Given the description of an element on the screen output the (x, y) to click on. 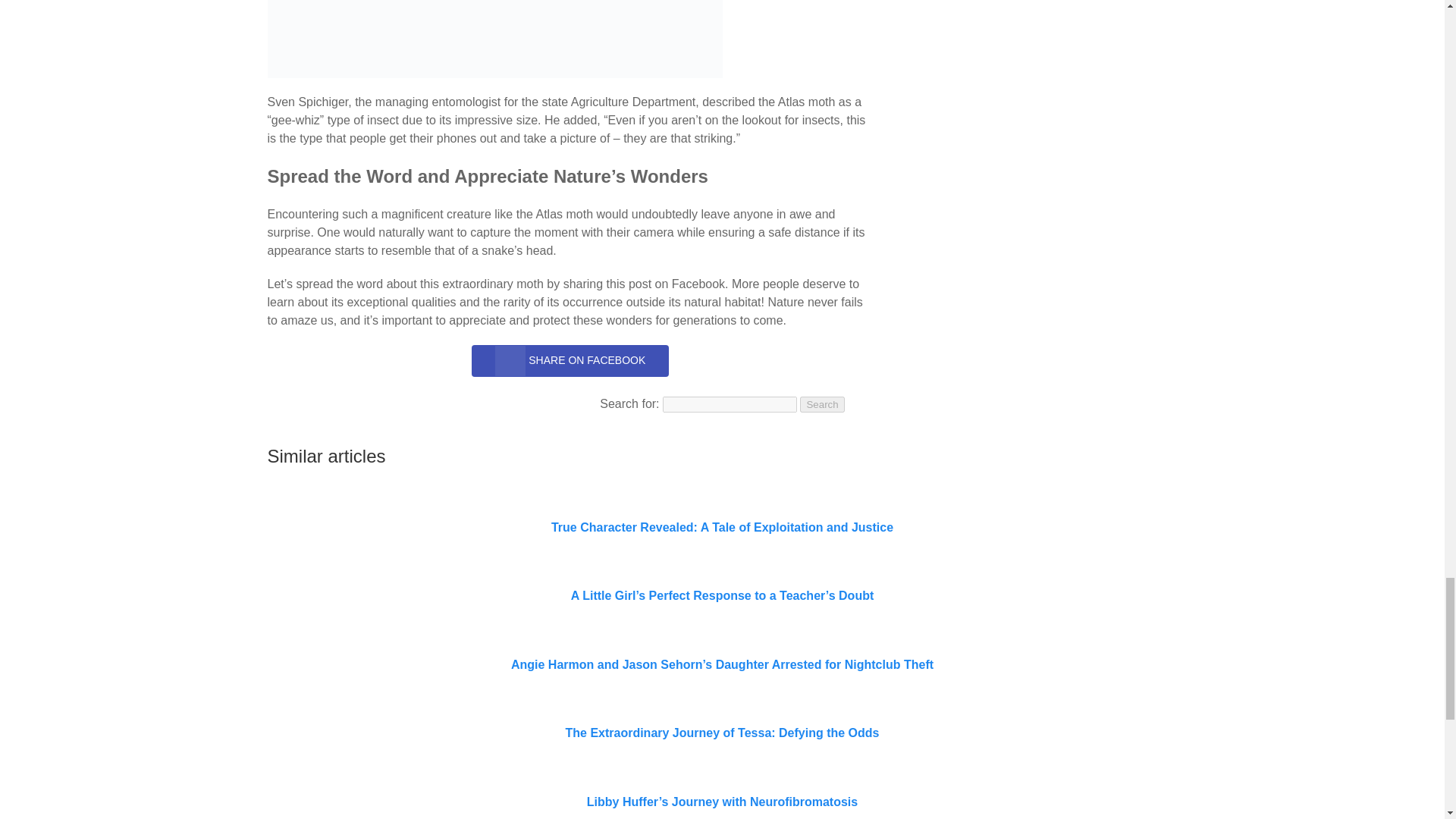
Search (821, 404)
Search (821, 404)
The Extraordinary Journey of Tessa: Defying the Odds (721, 732)
SHARE ON FACEBOOK (569, 360)
True Character Revealed: A Tale of Exploitation and Justice (722, 526)
